Given the description of an element on the screen output the (x, y) to click on. 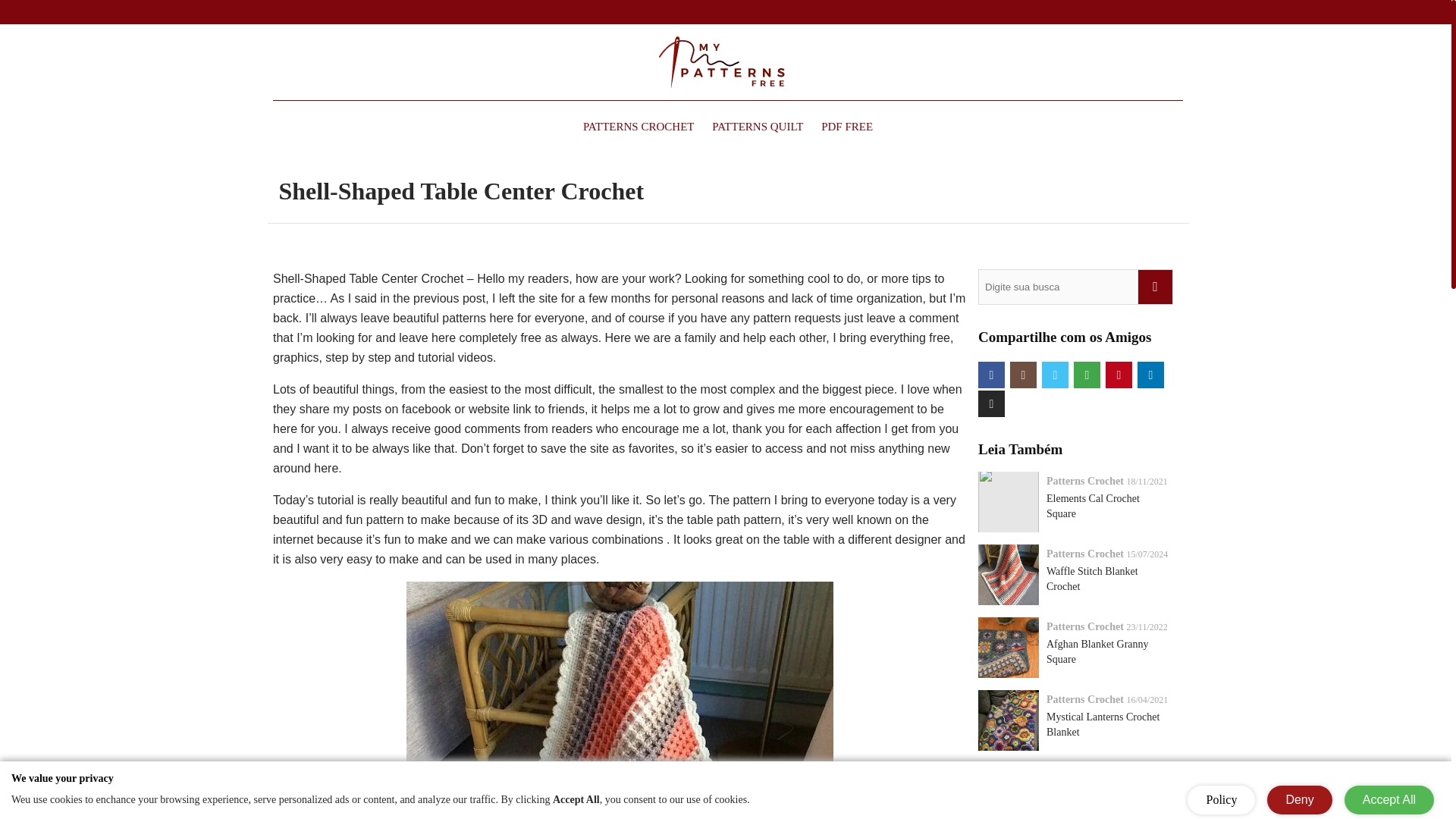
PDF FREE (846, 126)
PATTERNS QUILT (757, 126)
Pesquisar (1155, 286)
Compartilhar pelo Facebook (991, 374)
PATTERNS CROCHET (638, 126)
